Given the description of an element on the screen output the (x, y) to click on. 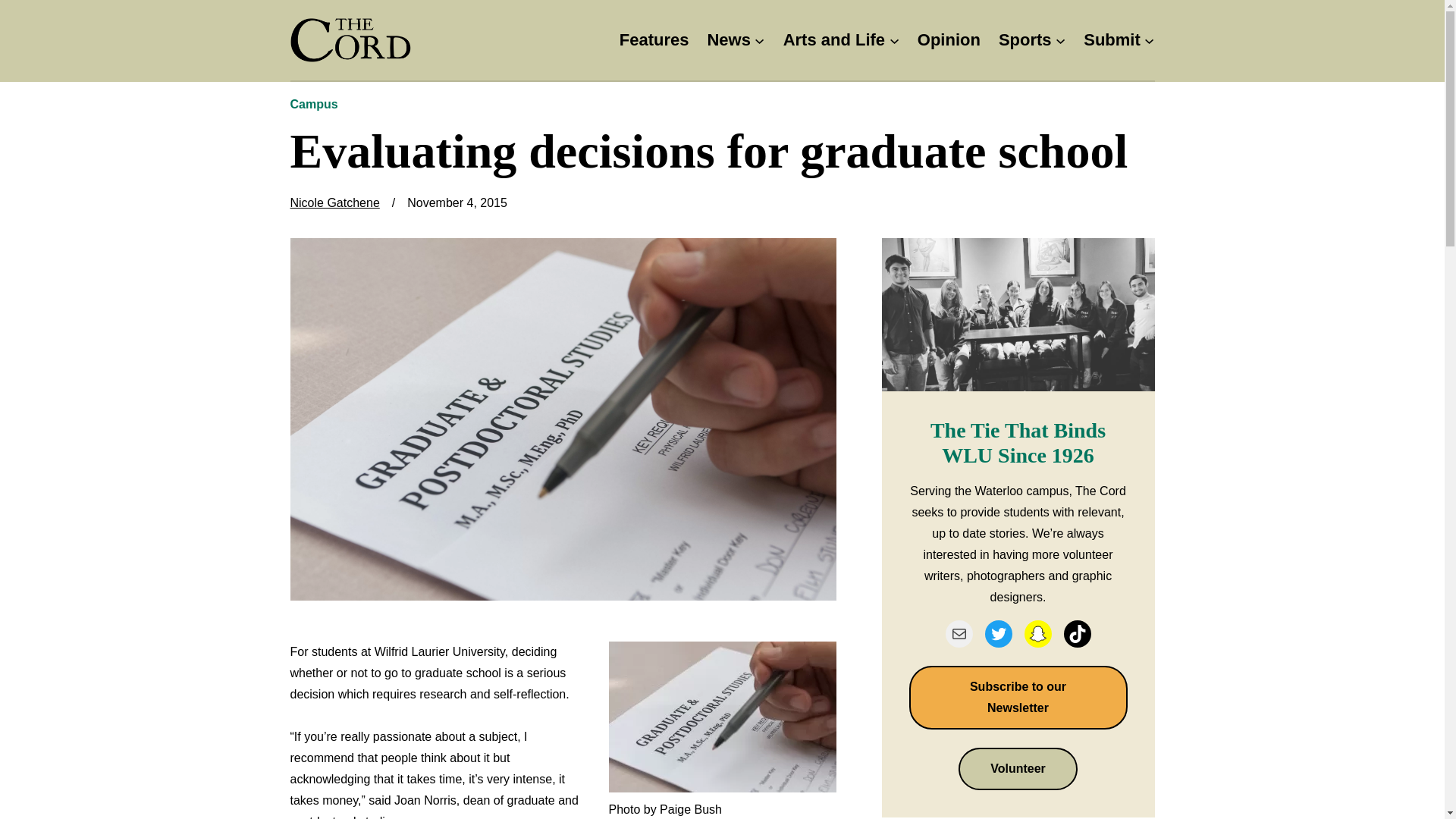
Submit (1111, 40)
Sports (1024, 40)
Arts and Life (834, 40)
Mail (958, 633)
Twitter (997, 633)
Features (654, 40)
Campus (313, 103)
Opinion (948, 40)
News (727, 40)
Nicole Gatchene (333, 202)
Snapchat (1037, 633)
